Given the description of an element on the screen output the (x, y) to click on. 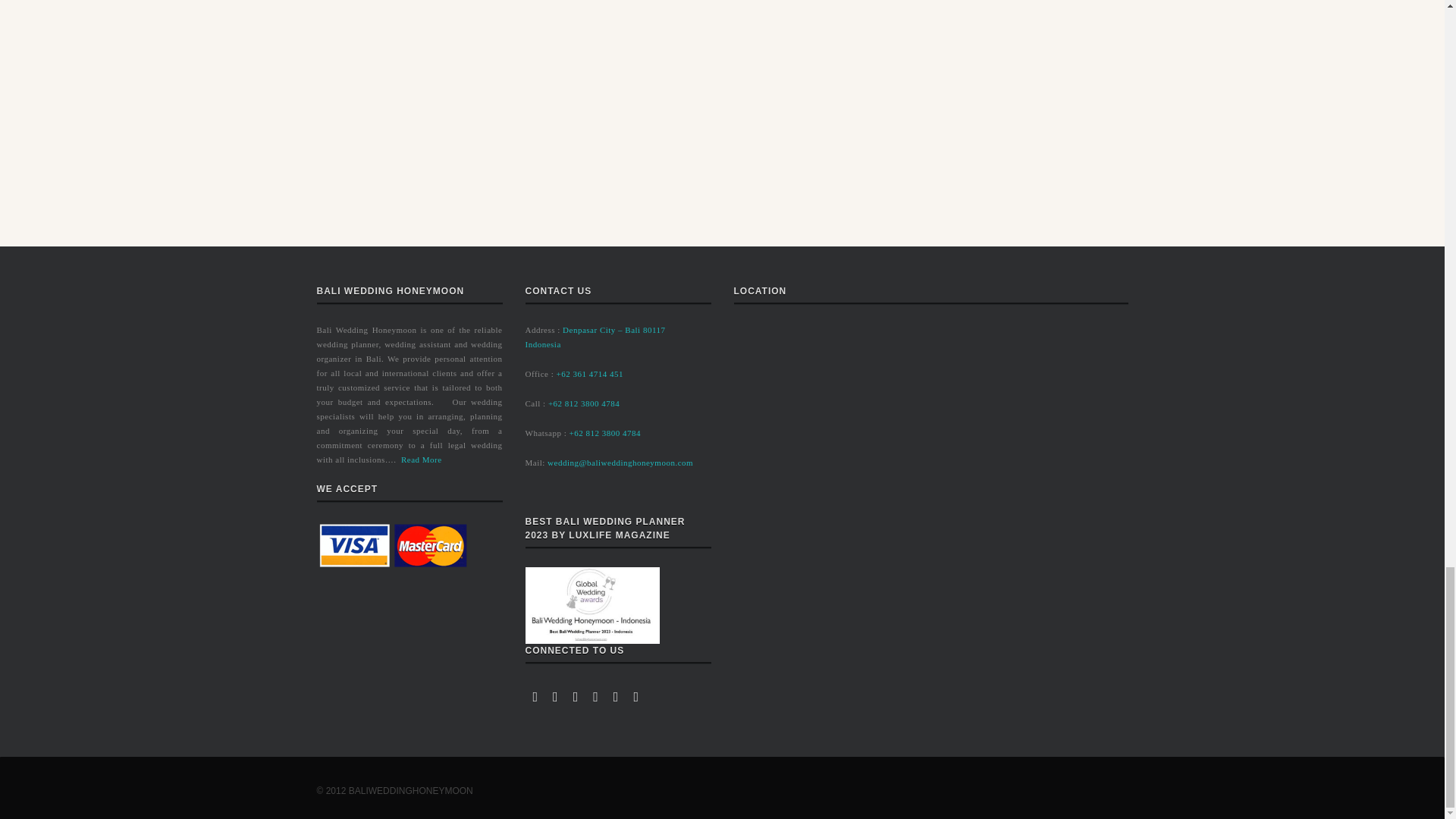
BEST BALI WEDDING PLANNER 2023 (591, 604)
